Given the description of an element on the screen output the (x, y) to click on. 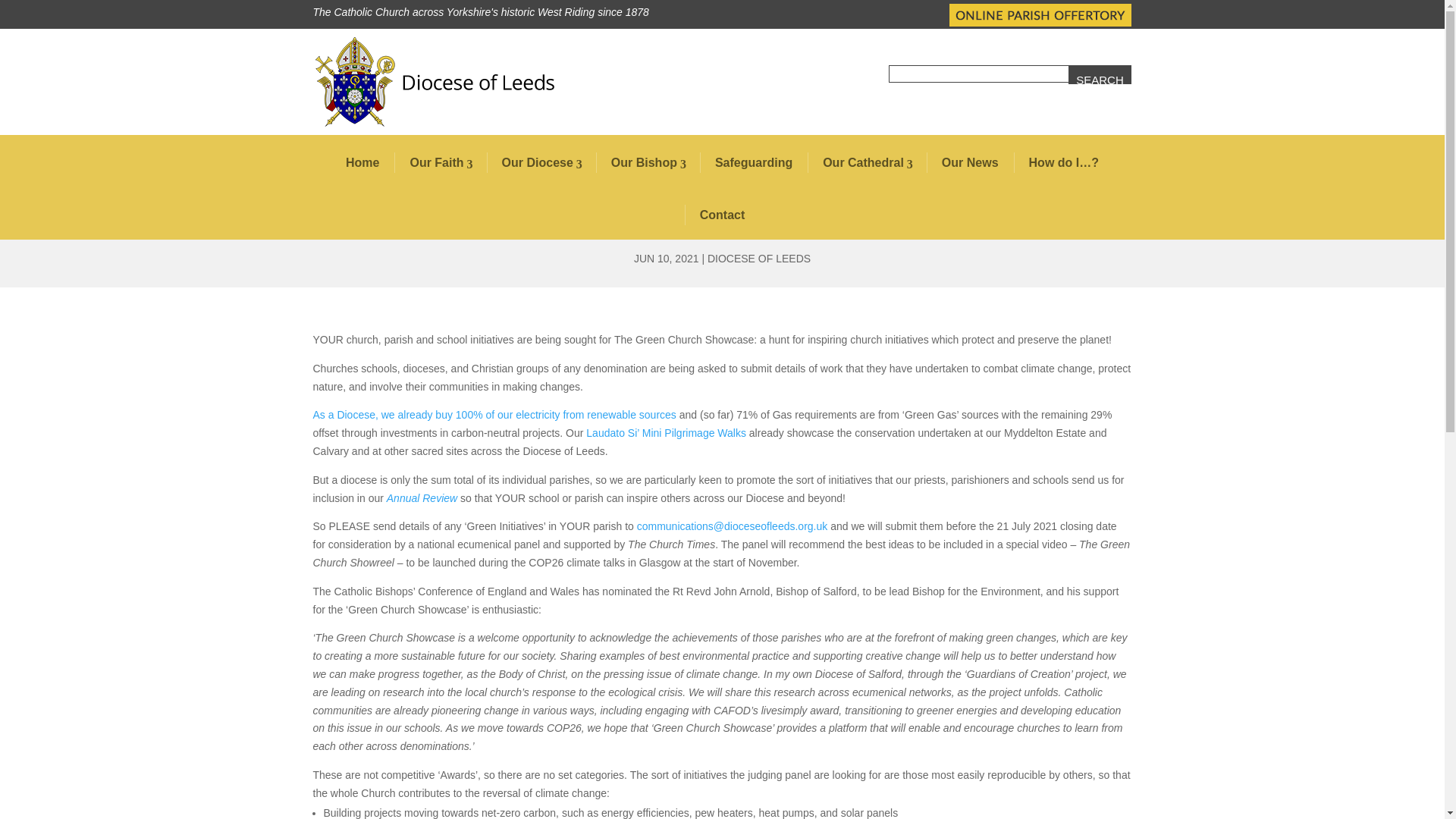
Diocese-of-Leeds-logo-2022 (433, 81)
Search (1100, 74)
Search (1100, 74)
